Given the description of an element on the screen output the (x, y) to click on. 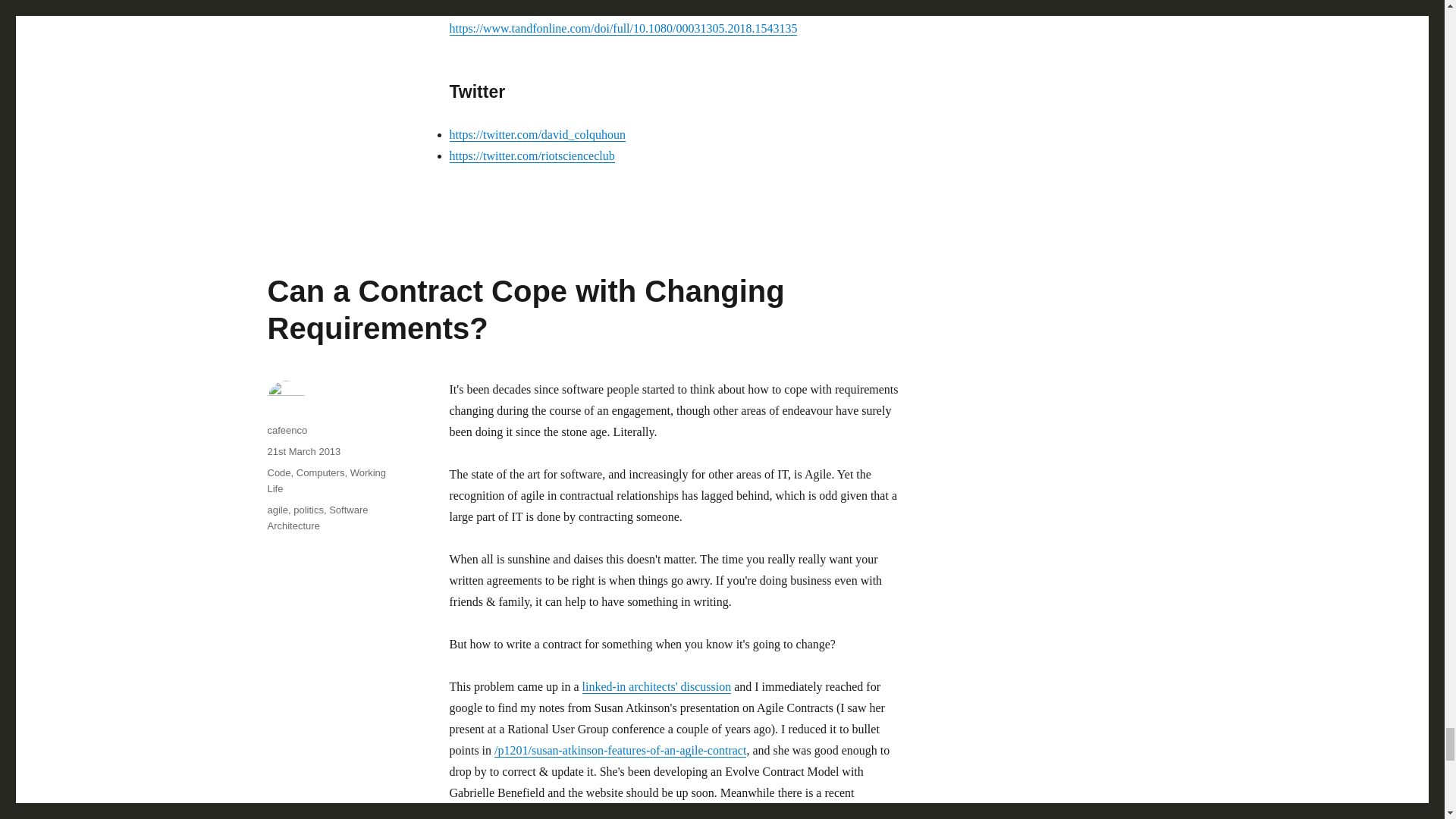
LinkedIn - IASA (657, 686)
Susan Atkinson Contract Metrics for Agile (659, 813)
Susan Atkinson - Features of an Agile Contract (620, 749)
